Given the description of an element on the screen output the (x, y) to click on. 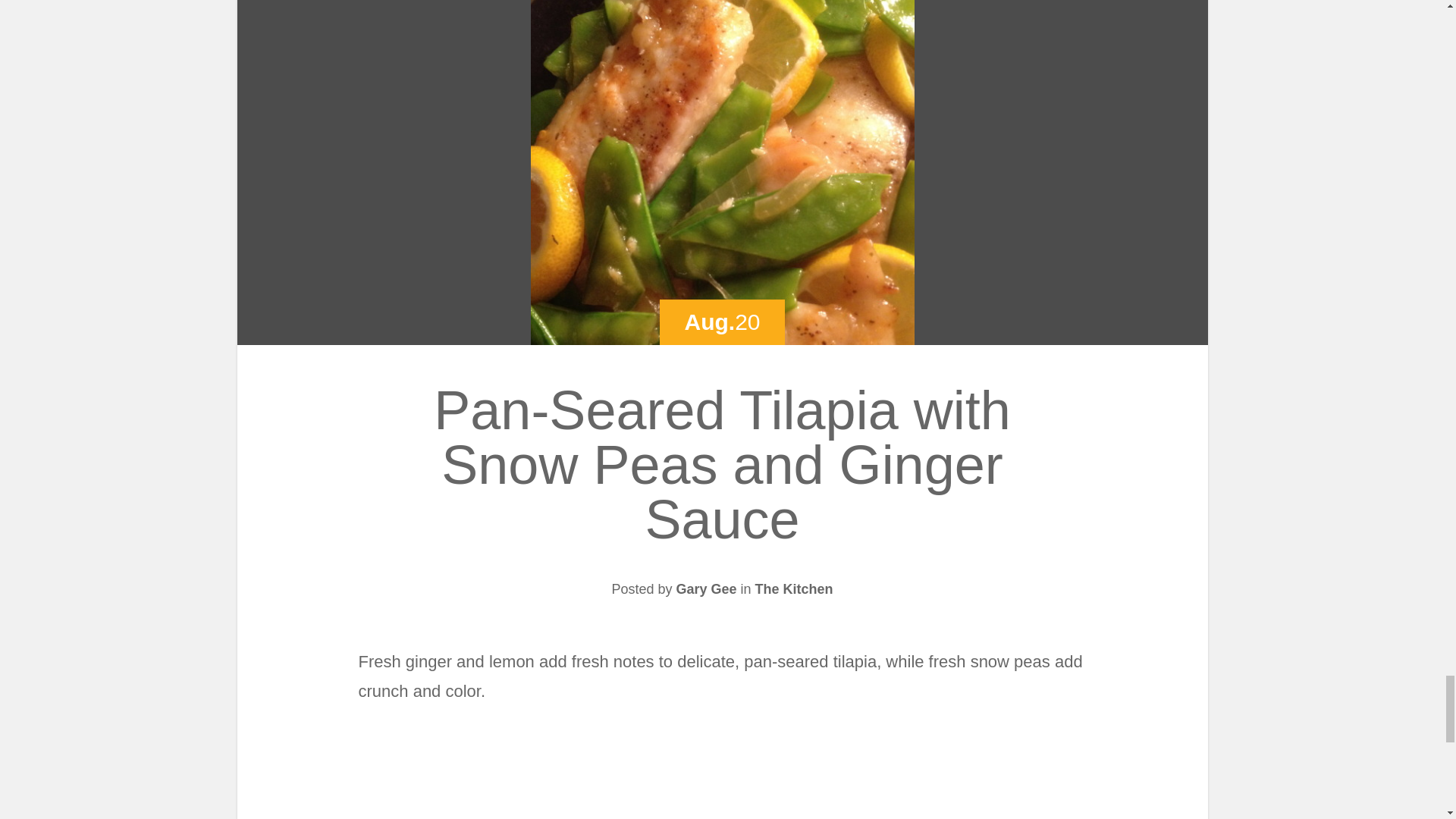
Posts by Gary Gee (705, 589)
